Given the description of an element on the screen output the (x, y) to click on. 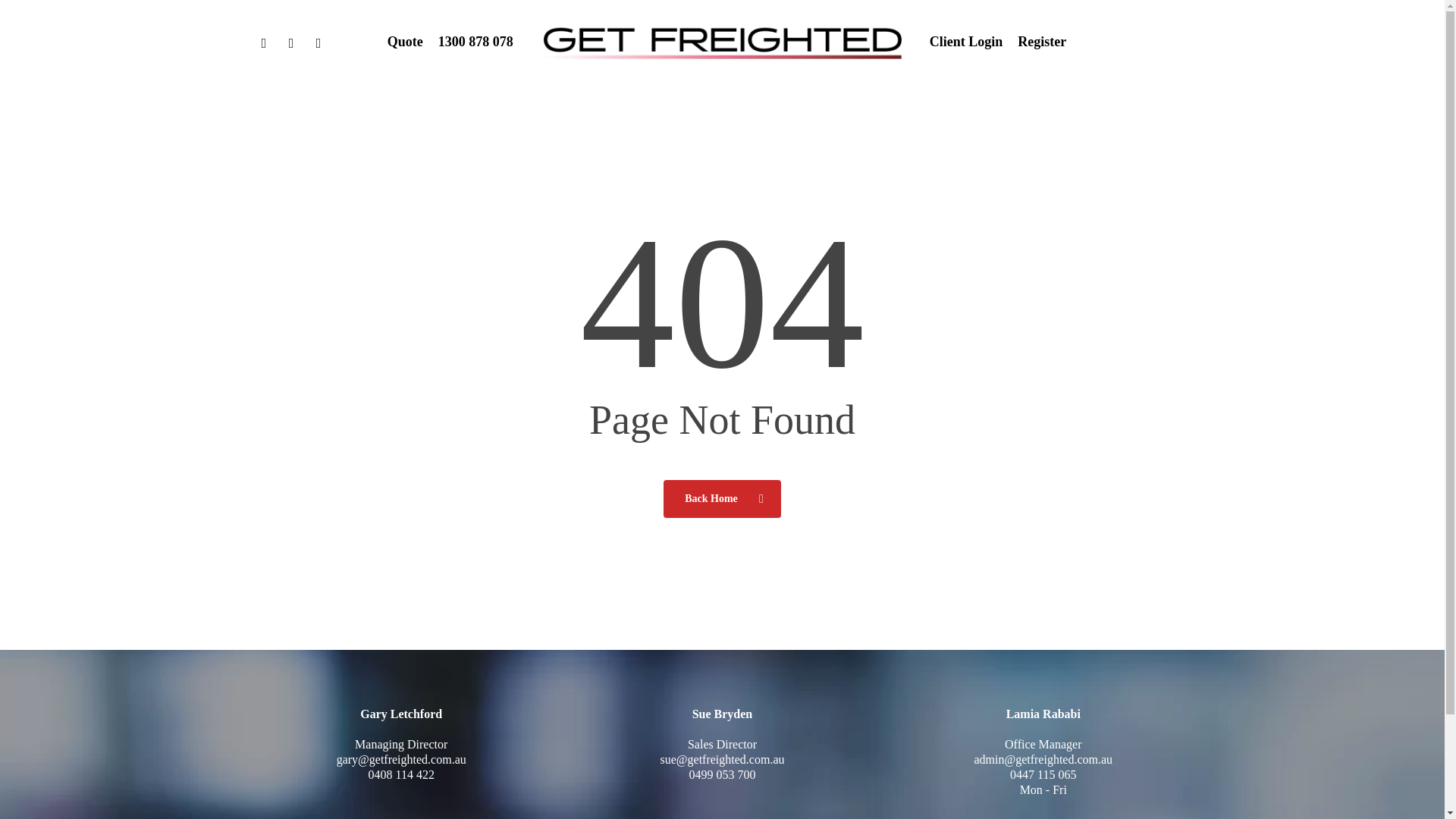
Register (1041, 42)
0499 053 700 (721, 774)
0408 114 422 (400, 774)
Back Home (721, 497)
0447 115 065 (1042, 774)
1300 878 078 (475, 42)
Quote (405, 42)
Client Login (966, 42)
